Given the description of an element on the screen output the (x, y) to click on. 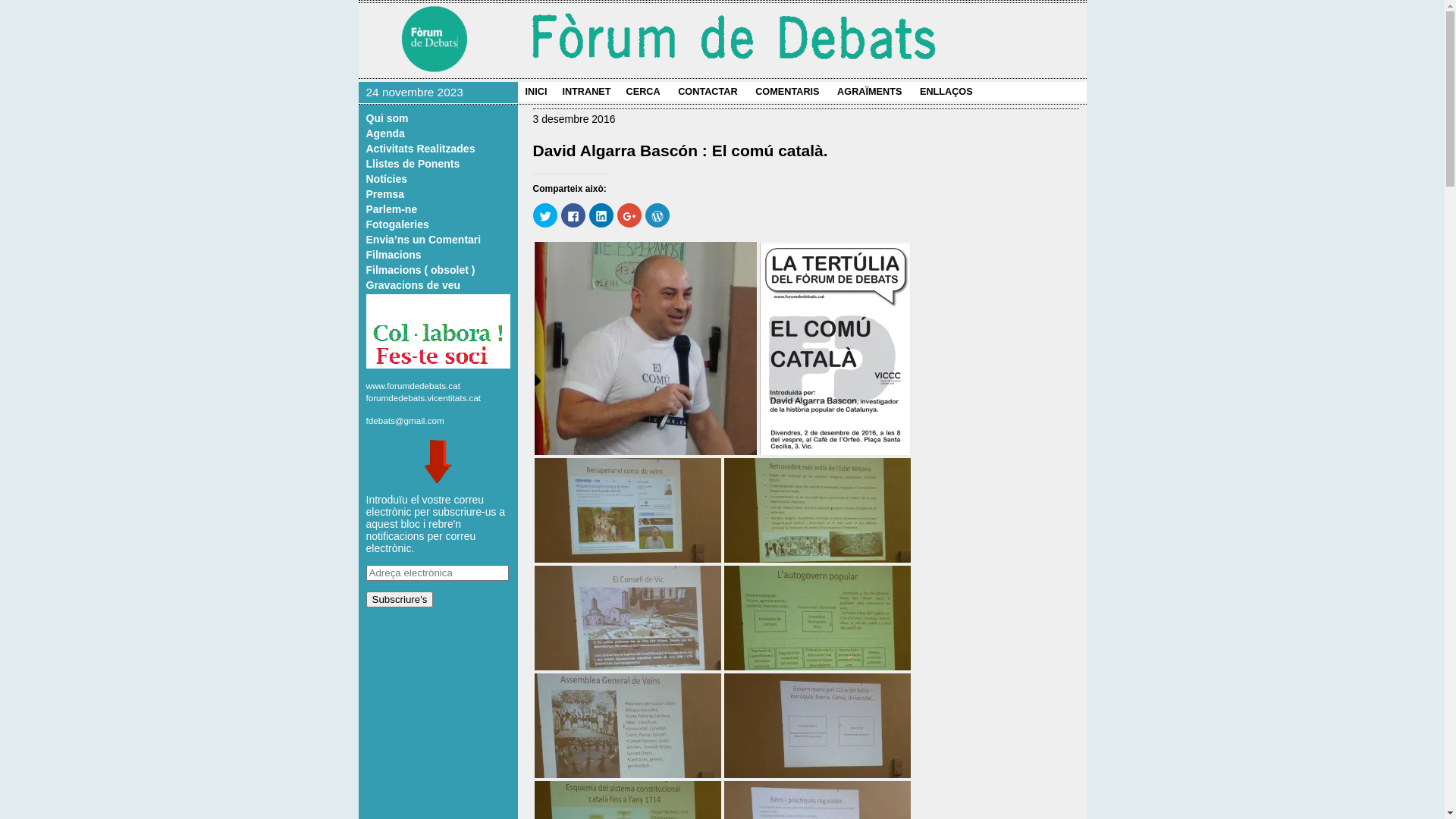
P1160859 Element type: hover (816, 725)
P1160864 Element type: hover (626, 617)
P1160865 Element type: hover (816, 510)
forumdedebats.vicentitats.cat Element type: text (422, 397)
  Element type: text (484, 397)
Feu clic per compartir al Twitter (Opens in new window) Element type: text (544, 215)
INTRANET Element type: text (585, 91)
P1160862 Element type: hover (626, 725)
Feu clic per compartir a Google+ (Opens in new window) Element type: text (629, 215)
CONTACTAR Element type: text (707, 91)
Parlem-ne Element type: text (391, 209)
Gravacions de veu Element type: text (412, 285)
Subscriure's Element type: text (399, 599)
INICI Element type: text (535, 91)
Qui som Element type: text (386, 118)
Llistes de Ponents Element type: text (412, 163)
Fes clic per compartir al Linkedin (Opens in new window) Element type: text (600, 215)
Premsa Element type: text (384, 194)
Agenda Element type: text (384, 133)
www.forumdedebats.cat Element type: text (412, 385)
CERCA Element type: text (643, 91)
COMENTARIS Element type: text (787, 91)
Fotogaleries Element type: text (396, 224)
P1160866 Element type: hover (626, 510)
Click to share on Facebook (Opens in new window) Element type: text (573, 215)
Activitats Realitzades Element type: text (419, 148)
Filmacions ( obsolet ) Element type: text (419, 269)
Filmacions Element type: text (392, 254)
P1160863 Element type: hover (816, 617)
fdebats@gmail.com Element type: text (404, 420)
